Given the description of an element on the screen output the (x, y) to click on. 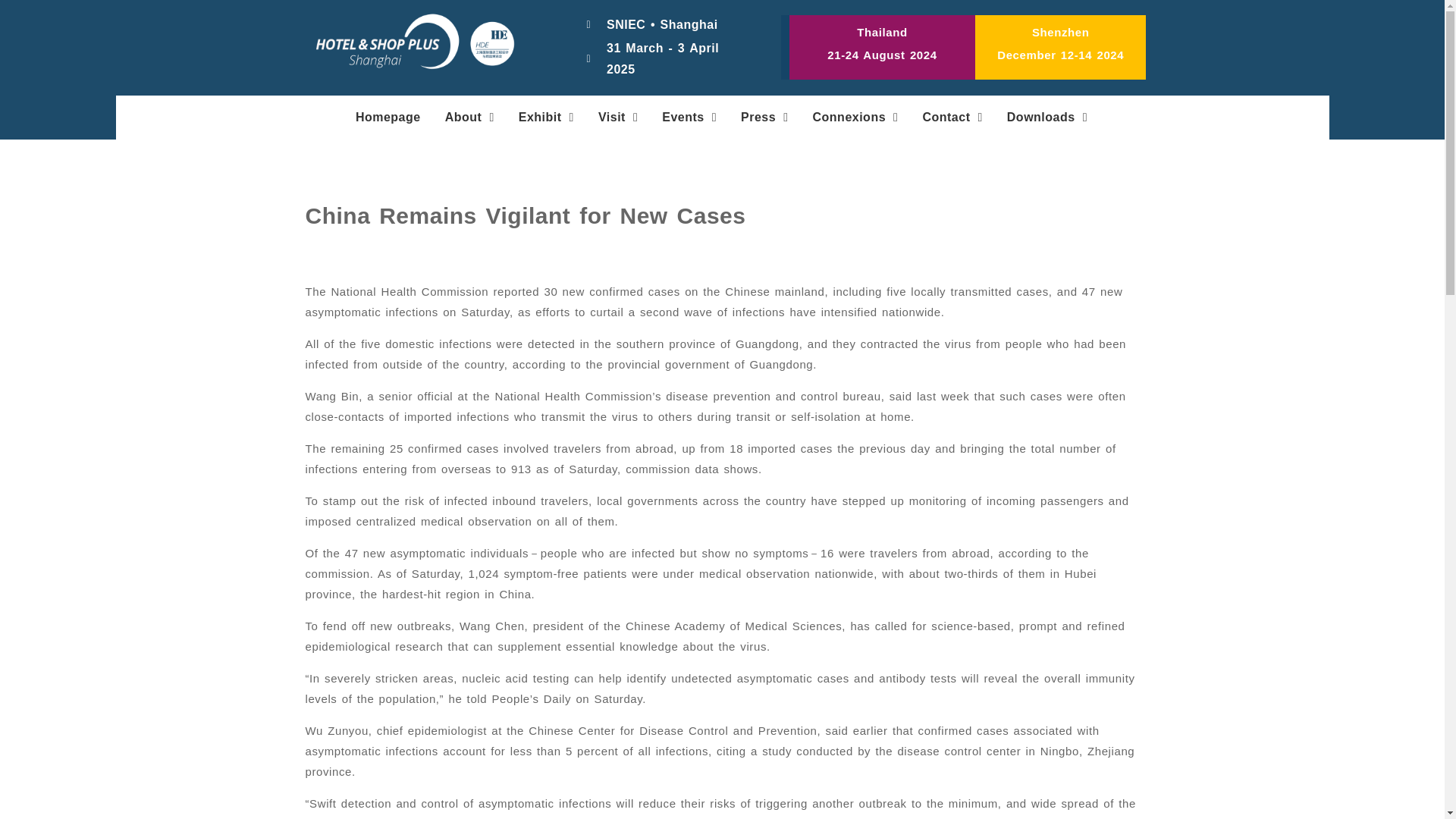
Events (689, 117)
Thailand (882, 31)
Exhibit (546, 117)
Homepage (387, 117)
Shenzhen (1060, 31)
About (469, 117)
Connexions (855, 117)
Contact (952, 117)
Visit (617, 117)
Press (764, 117)
